Given the description of an element on the screen output the (x, y) to click on. 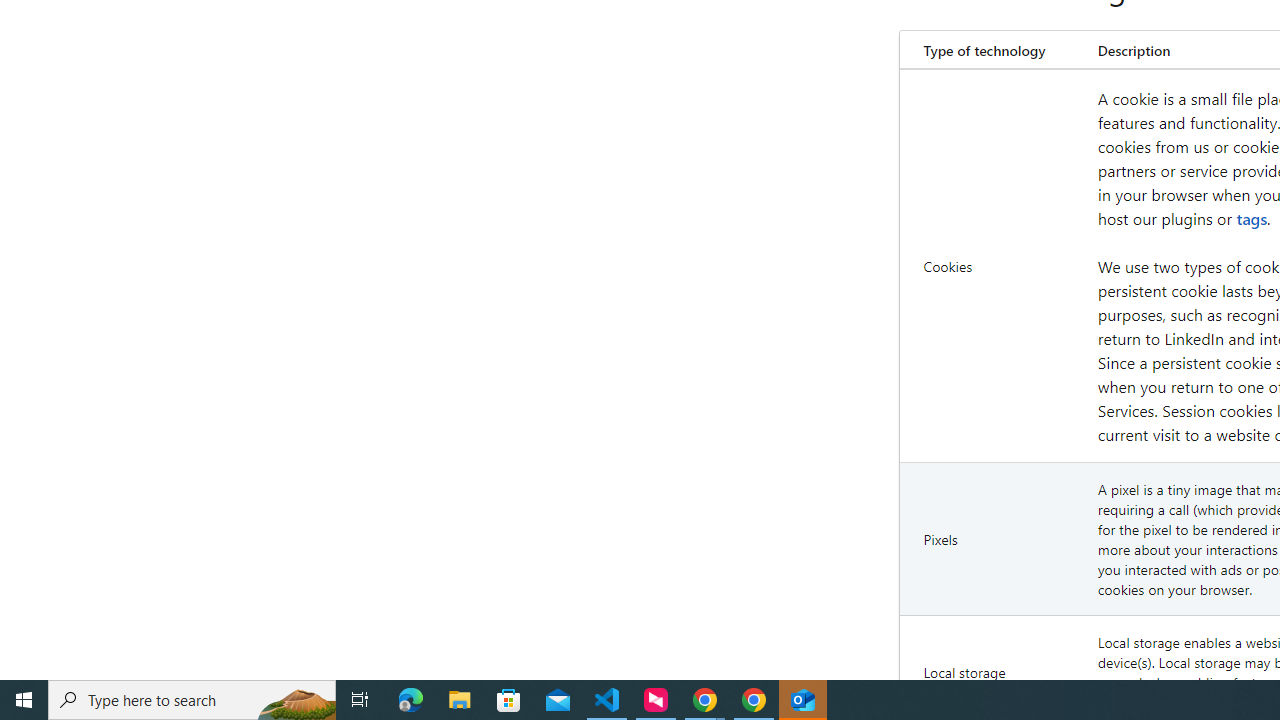
tags (1252, 217)
